Given the description of an element on the screen output the (x, y) to click on. 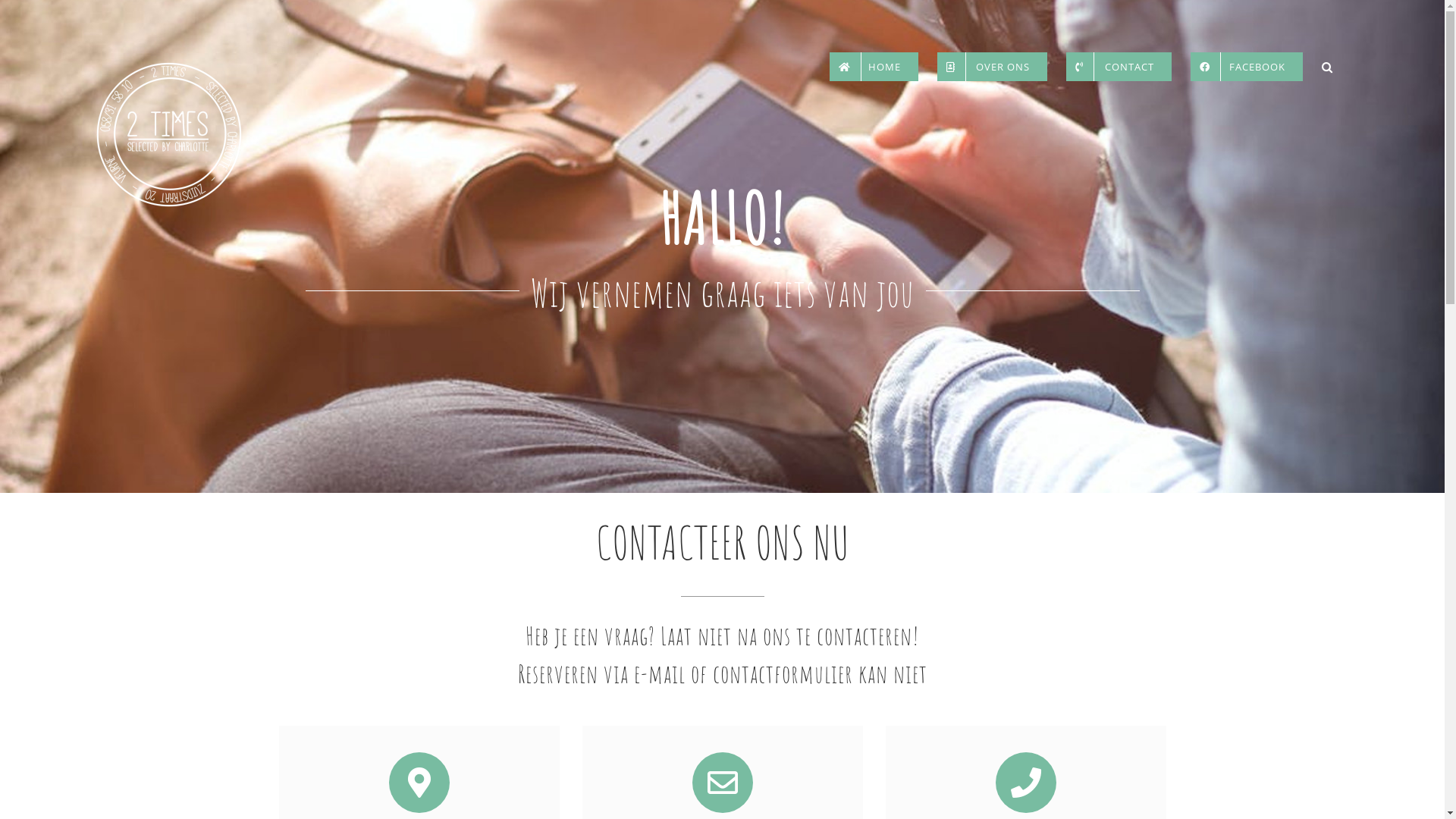
CONTACT Element type: text (1118, 66)
Zoeken Element type: hover (1327, 66)
OVER ONS Element type: text (992, 66)
FACEBOOK Element type: text (1246, 66)
HOME Element type: text (873, 66)
